Given the description of an element on the screen output the (x, y) to click on. 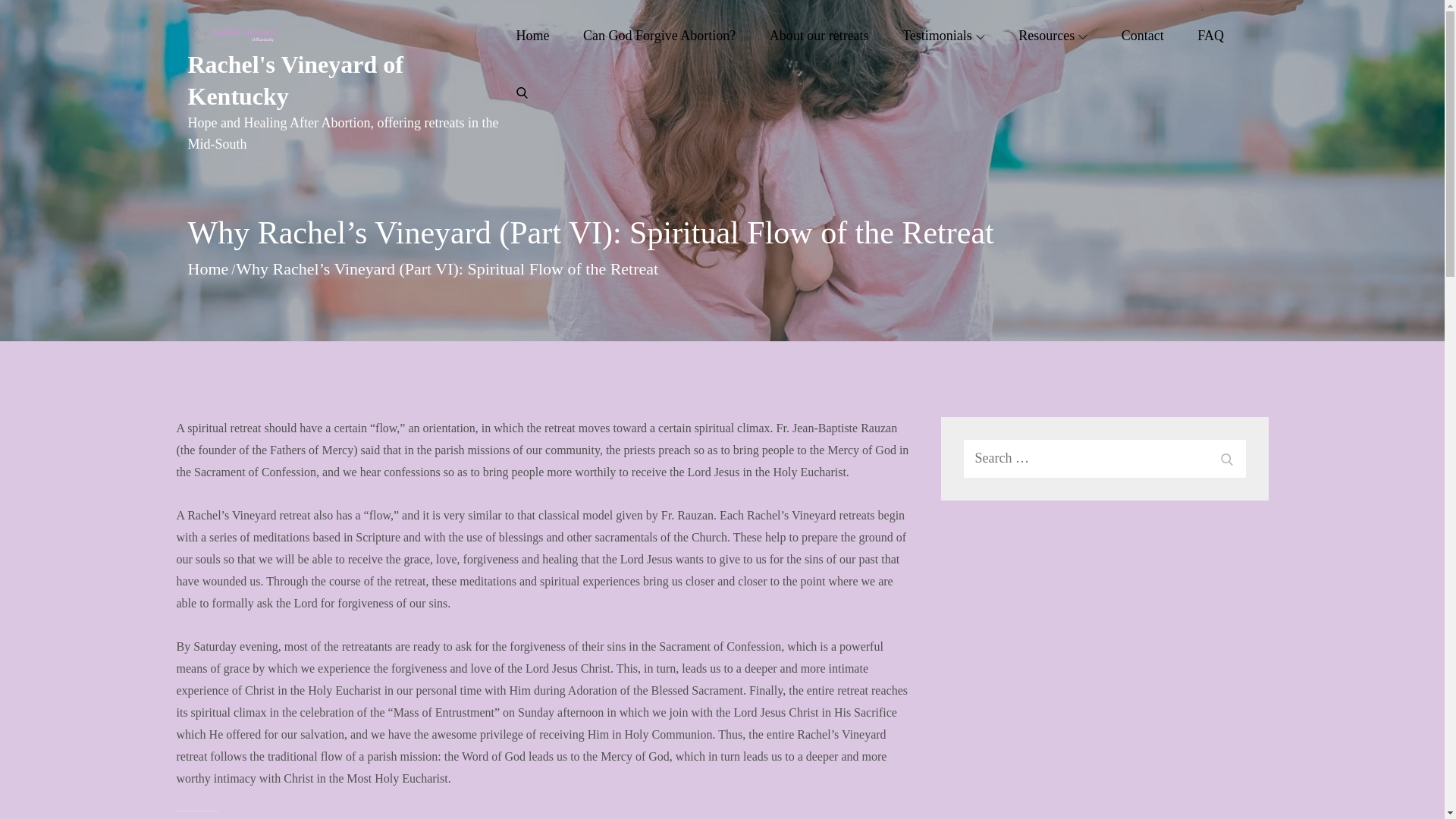
Testimonials (943, 35)
About our retreats (818, 35)
Can God Forgive Abortion? (658, 35)
Contact (1142, 35)
SEARCH (1225, 458)
Rachel's Vineyard of Kentucky (295, 79)
Resources (1052, 35)
Home (207, 268)
